Given the description of an element on the screen output the (x, y) to click on. 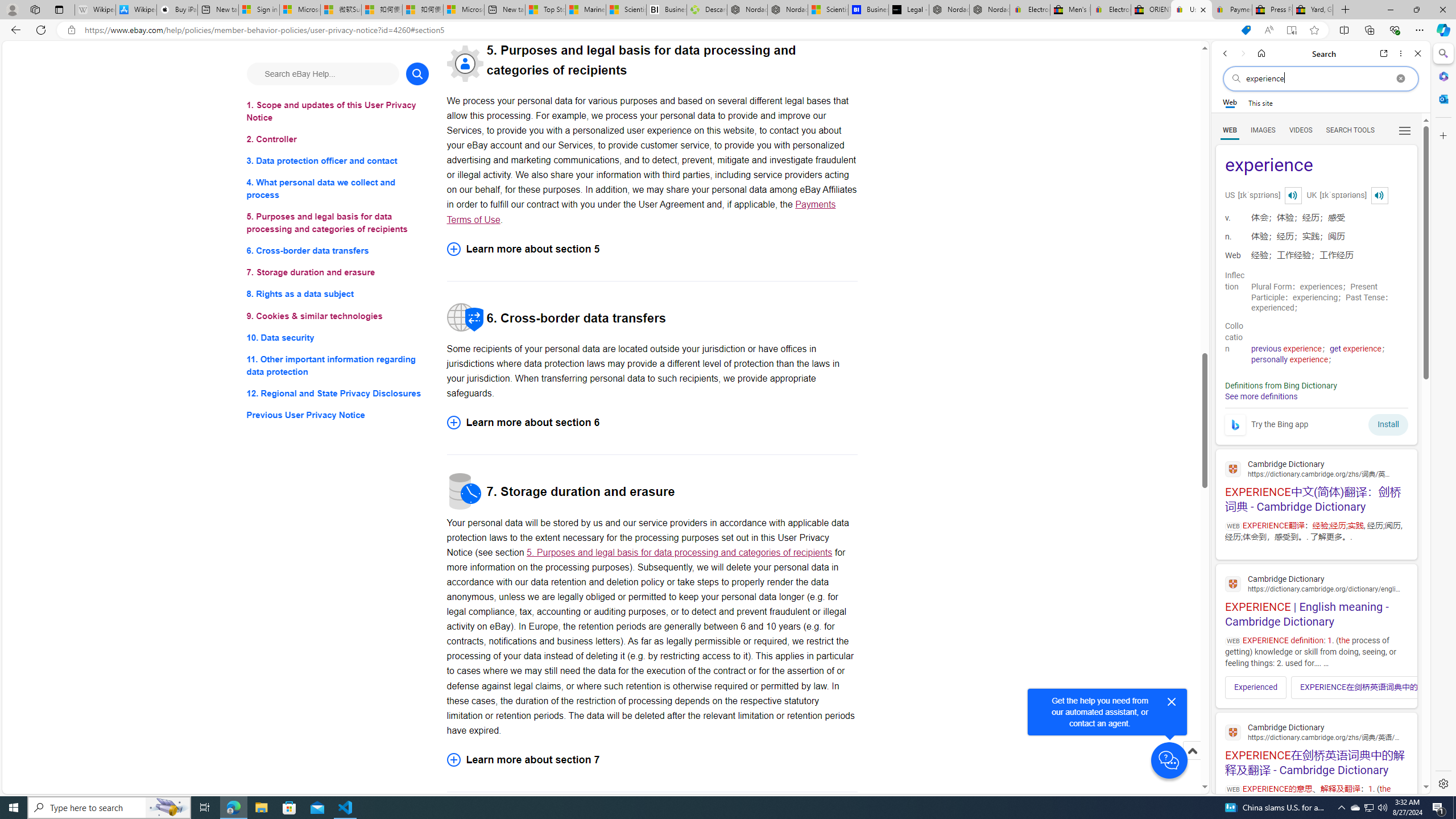
personally experience (1288, 359)
Payments Terms of Use - opens in new window or tab (640, 211)
8. Rights as a data subject (337, 293)
Cambridge Dictionary (1315, 731)
